Given the description of an element on the screen output the (x, y) to click on. 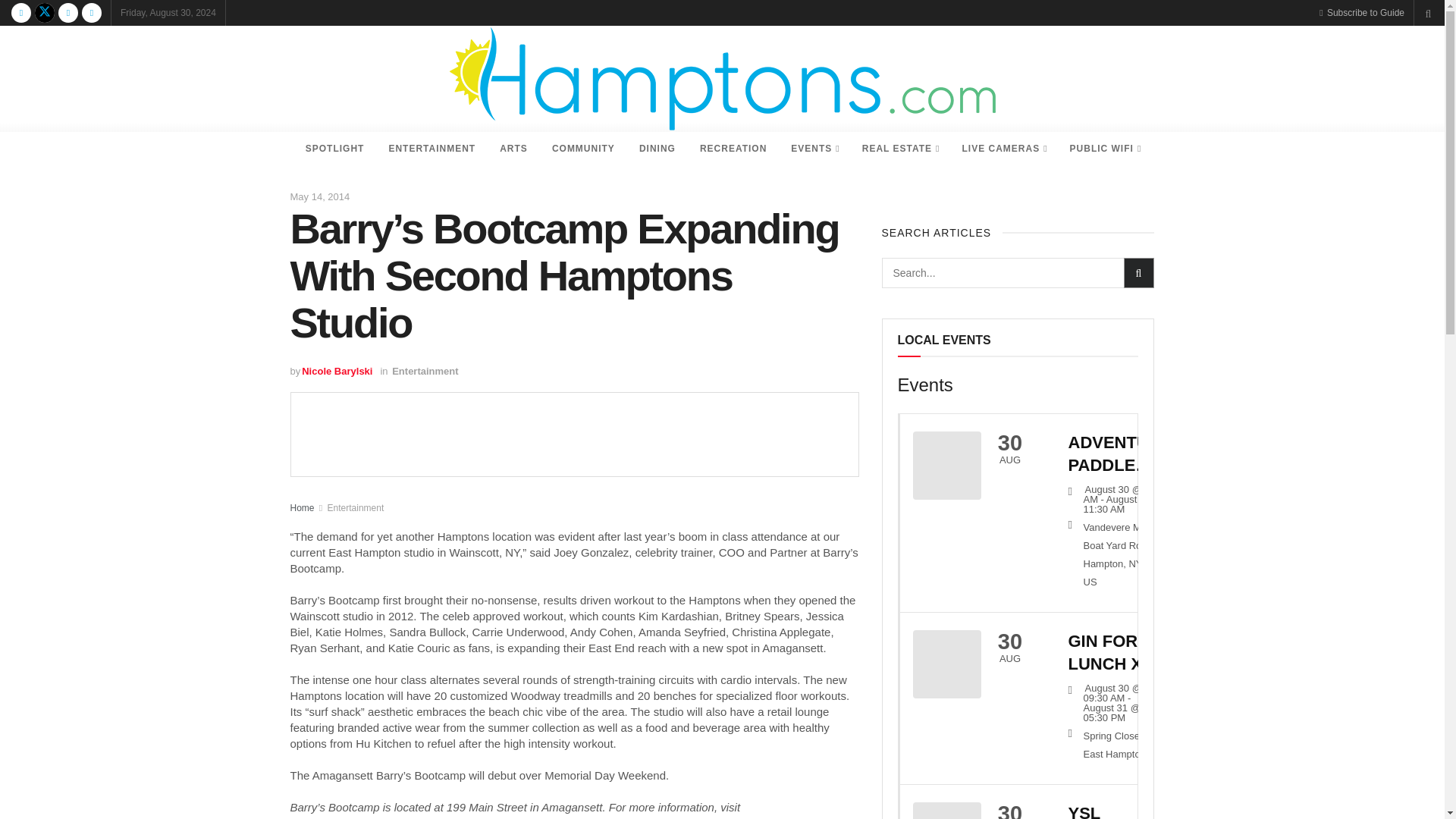
RECREATION (732, 148)
SPOTLIGHT (335, 148)
COMMUNITY (583, 148)
ARTS (513, 148)
EVENTS (813, 148)
REAL ESTATE (900, 148)
LIVE CAMERAS (1003, 148)
DINING (657, 148)
ENTERTAINMENT (431, 148)
Subscribe to Guide (1362, 12)
